Given the description of an element on the screen output the (x, y) to click on. 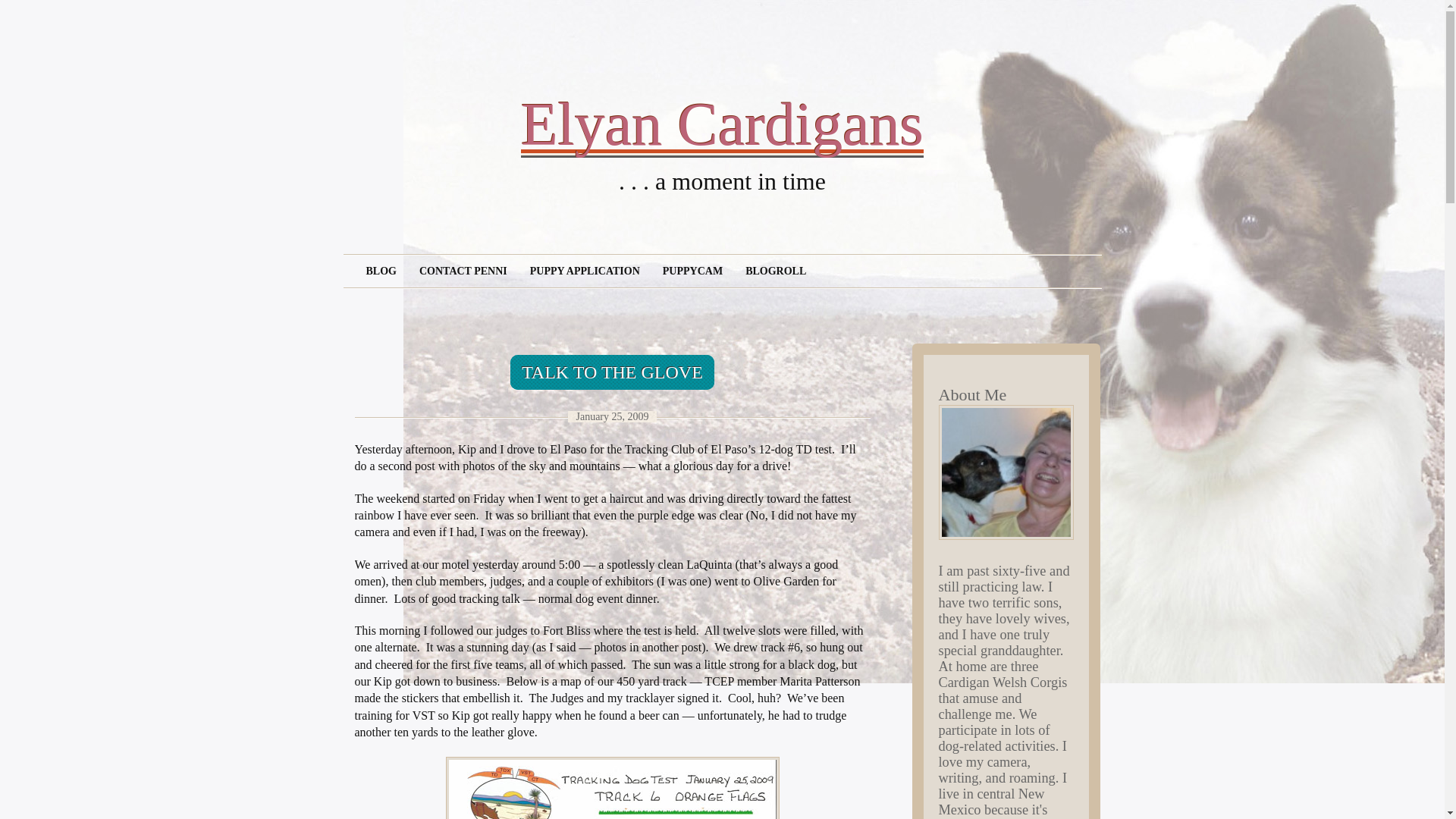
PUPPYCAM (691, 271)
BLOG (381, 271)
Elyan Cardigans (722, 124)
Elyan Cardigans (722, 124)
PUPPY APPLICATION (584, 271)
CONTACT PENNI (462, 271)
TALK TO THE GLOVE (612, 371)
BLOGROLL (774, 271)
